Given the description of an element on the screen output the (x, y) to click on. 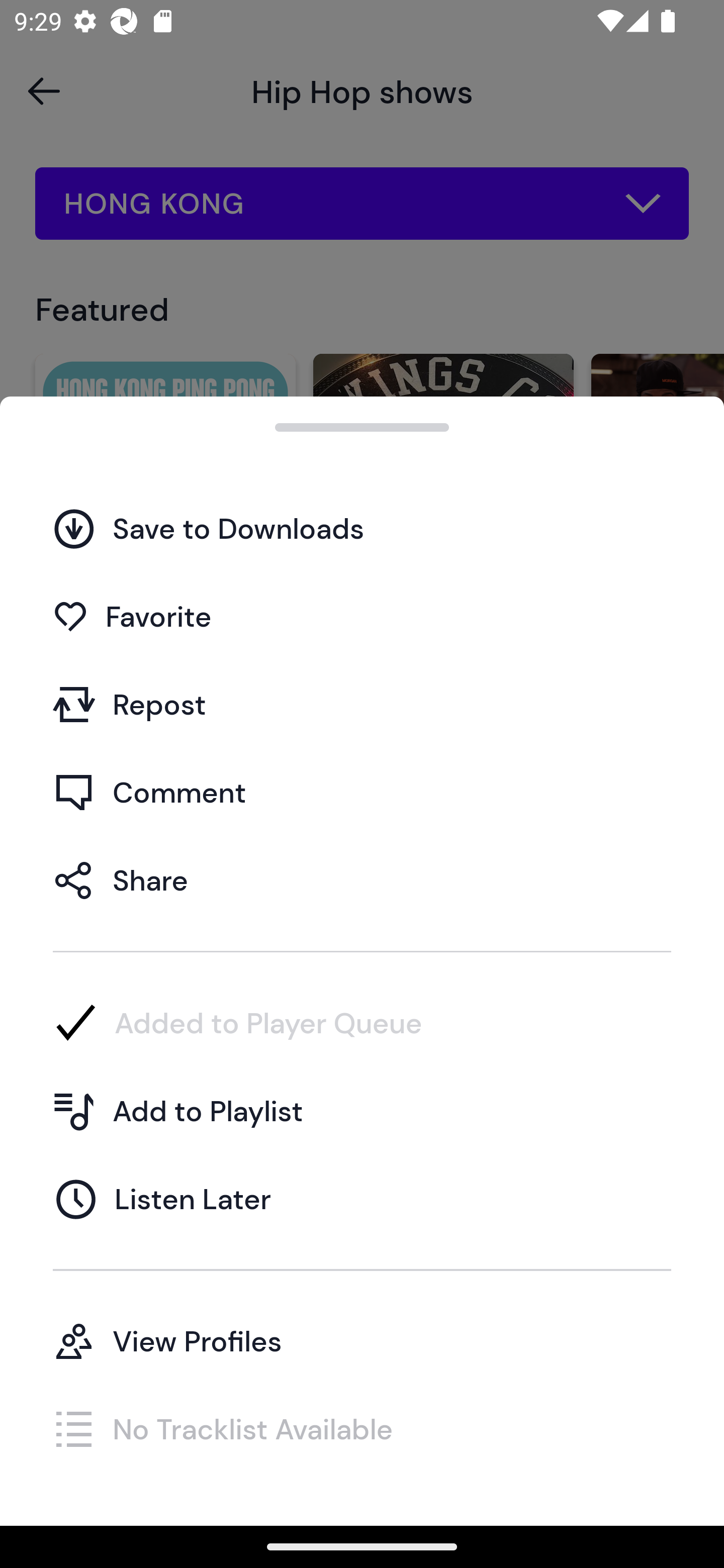
Save to Downloads (361, 528)
Favorite (361, 616)
Repost (361, 703)
Comment (361, 791)
Share (361, 879)
Add to Playlist (361, 1110)
Listen Later (361, 1199)
View Profiles (361, 1340)
No Tracklist Available (361, 1428)
